Given the description of an element on the screen output the (x, y) to click on. 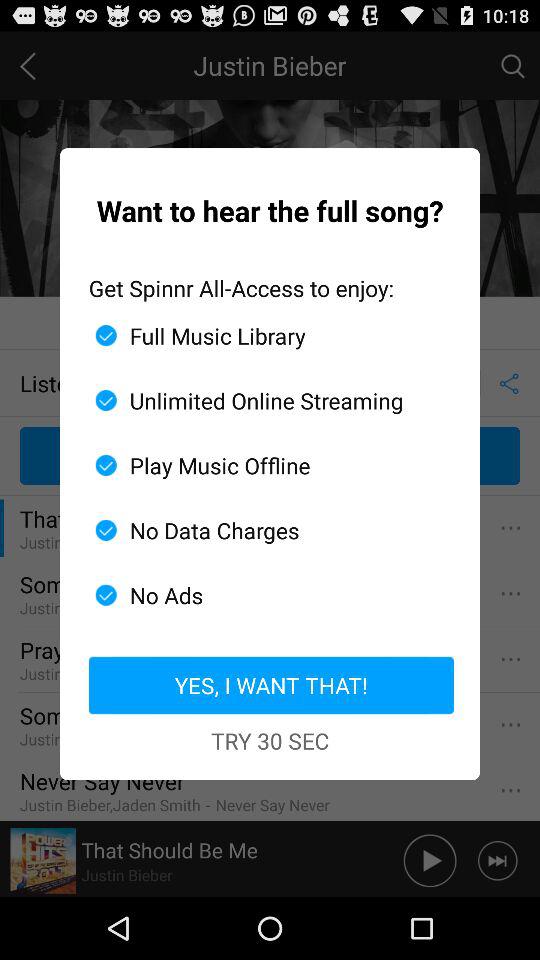
select icon above the unlimited online streaming (261, 335)
